Given the description of an element on the screen output the (x, y) to click on. 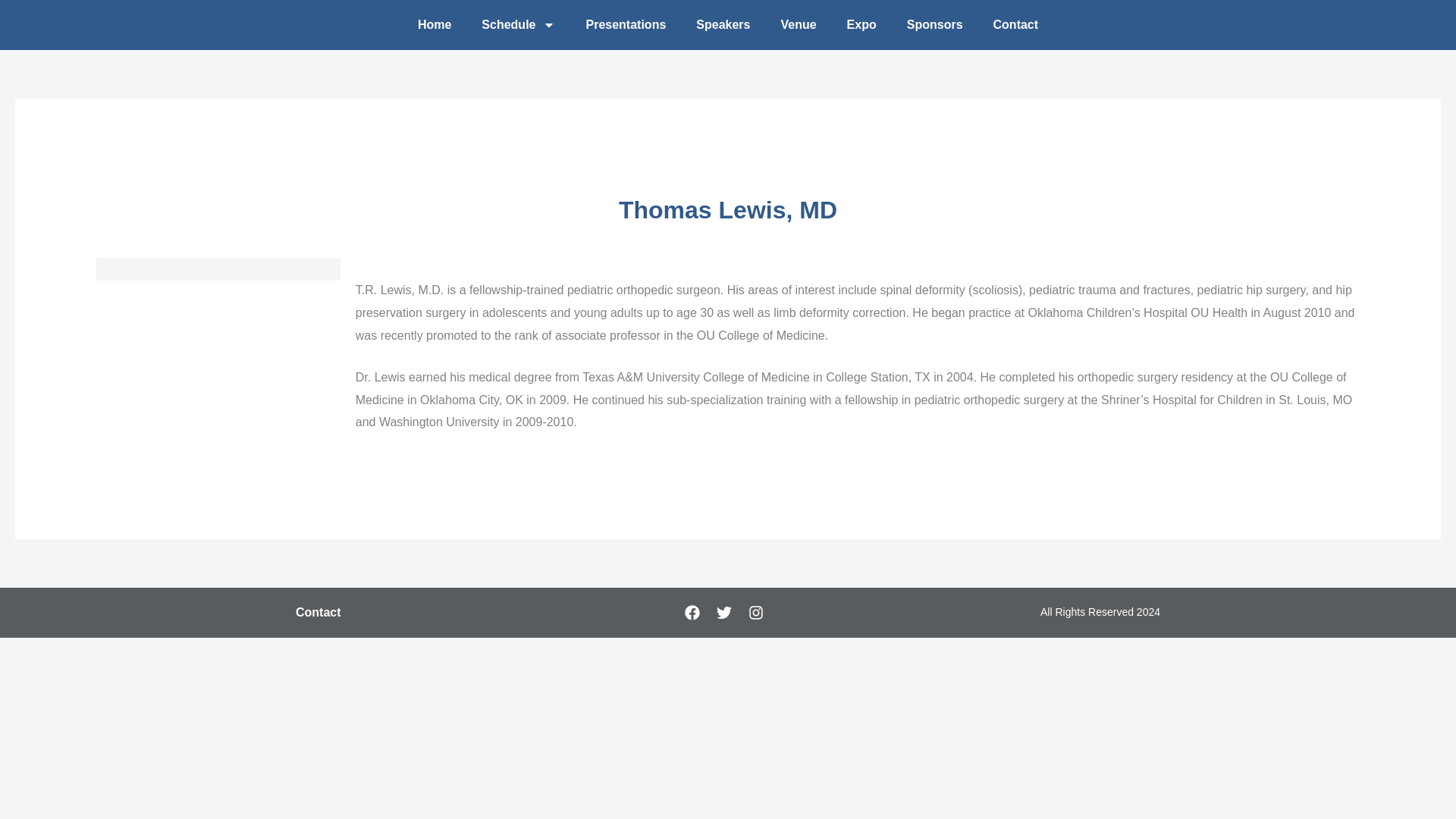
Sponsors (934, 24)
Schedule (517, 24)
Speakers (723, 24)
Home (434, 24)
Presentations (625, 24)
Contact (1016, 24)
Venue (798, 24)
Expo (861, 24)
